Given the description of an element on the screen output the (x, y) to click on. 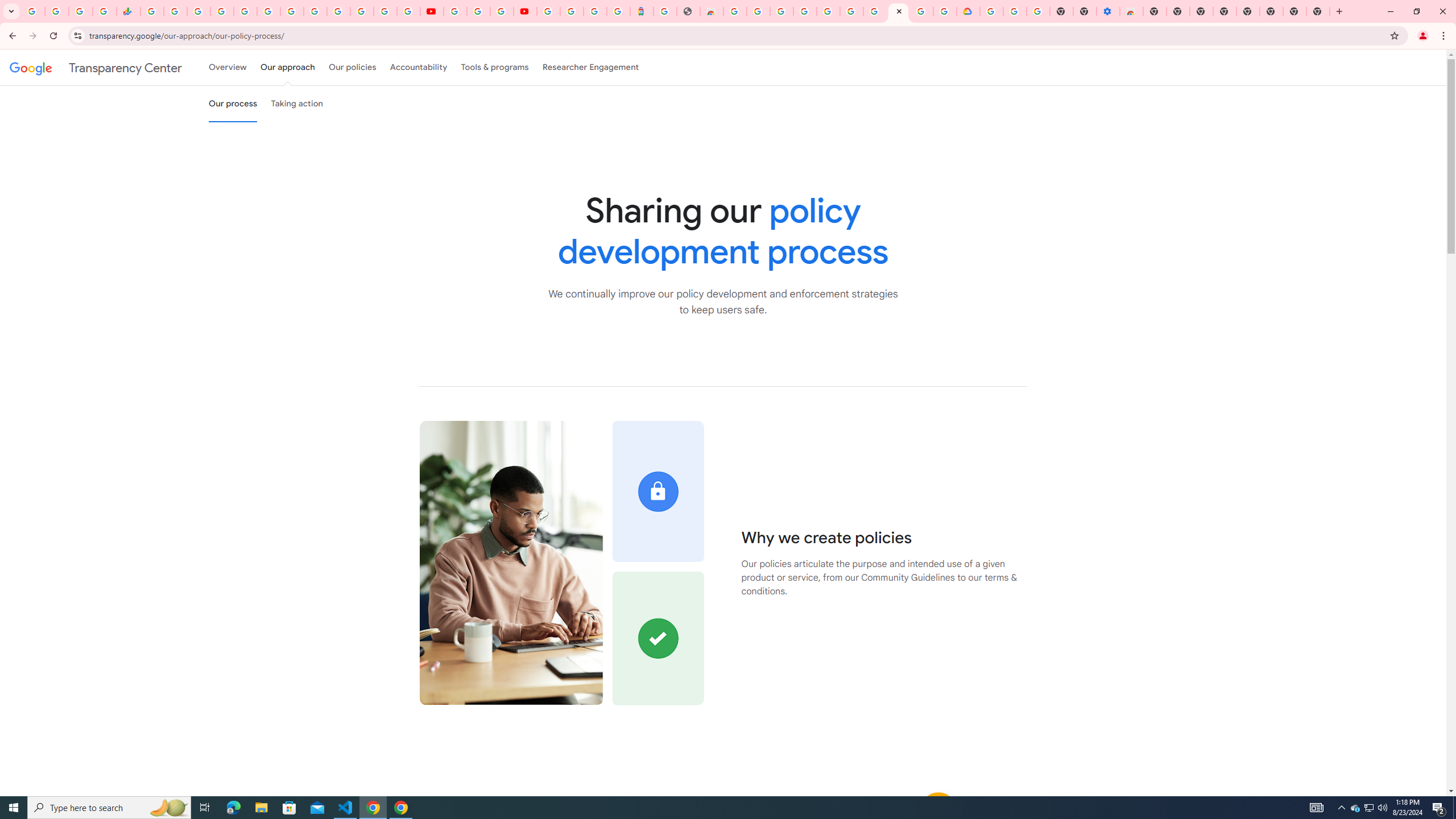
Turn cookies on or off - Computer - Google Account Help (1038, 11)
New Tab (1155, 11)
Android TV Policies and Guidelines - Transparency Center (291, 11)
Sign in - Google Accounts (384, 11)
Sign in - Google Accounts (547, 11)
Sign in - Google Accounts (992, 11)
Ad Settings (804, 11)
Sign in - Google Accounts (221, 11)
Taking action (296, 103)
